Given the description of an element on the screen output the (x, y) to click on. 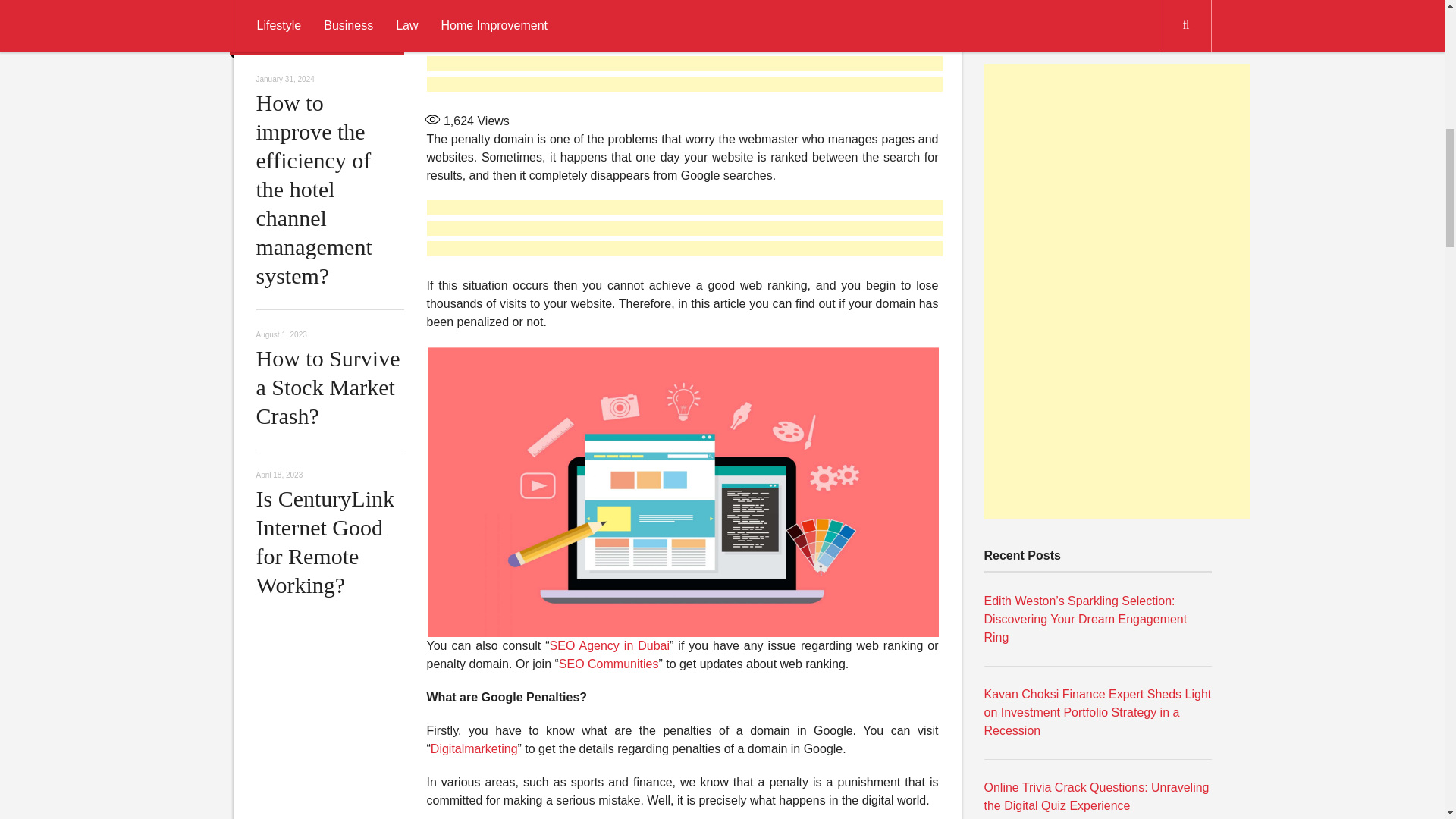
Is CenturyLink Internet Good for Remote Working? (325, 541)
SEO Agency in Dubai (609, 645)
How to Survive a Stock Market Crash? (328, 386)
How to Know If your Domain has been Penalized by Google? (597, 8)
Permalink to How to Survive a Stock Market Crash? (328, 386)
SEO Communities (609, 663)
Digitalmarketing (474, 748)
